Given the description of an element on the screen output the (x, y) to click on. 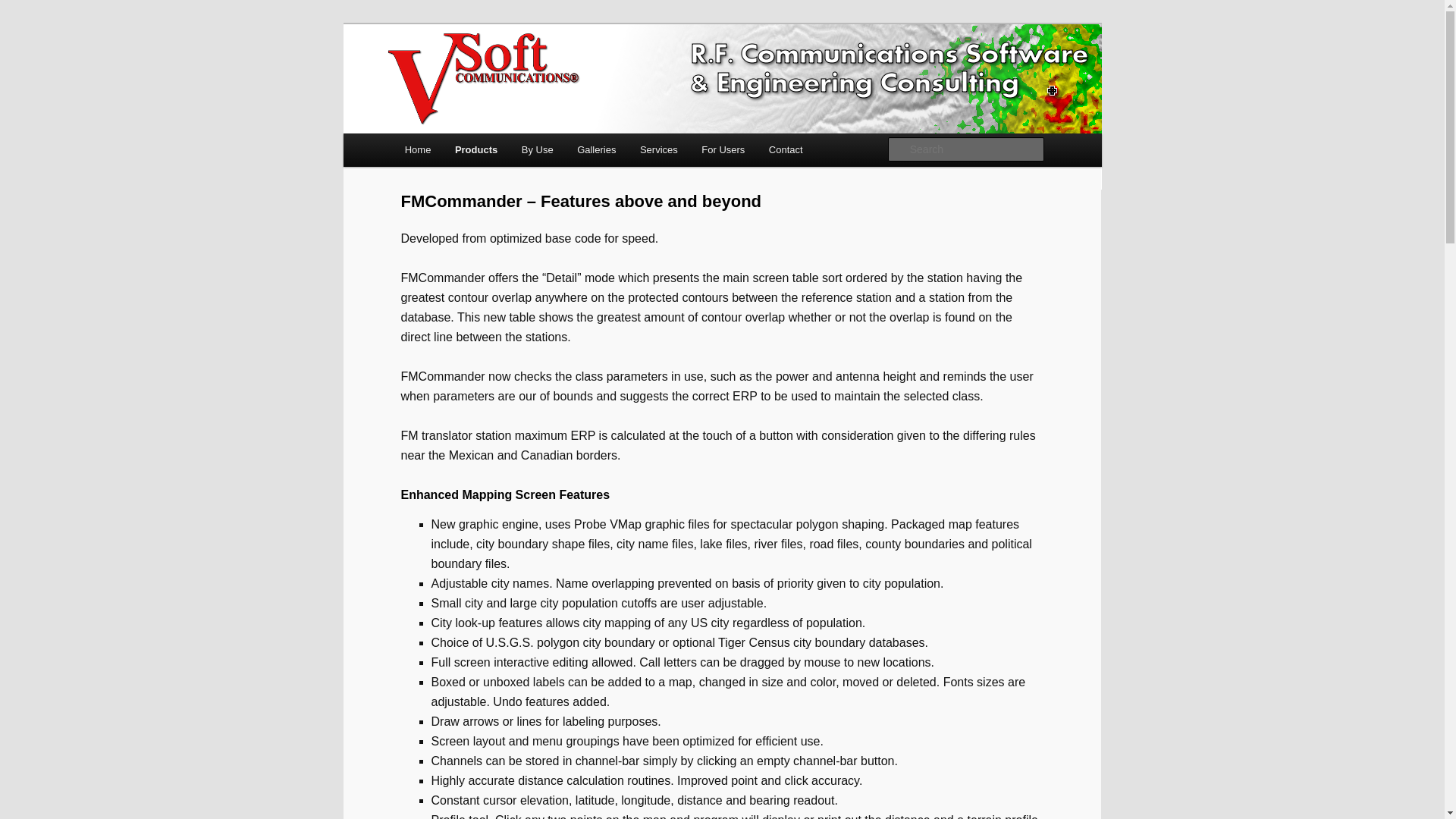
Products (475, 149)
Skip to primary content (80, 31)
Search (24, 8)
Home (417, 149)
